Given the description of an element on the screen output the (x, y) to click on. 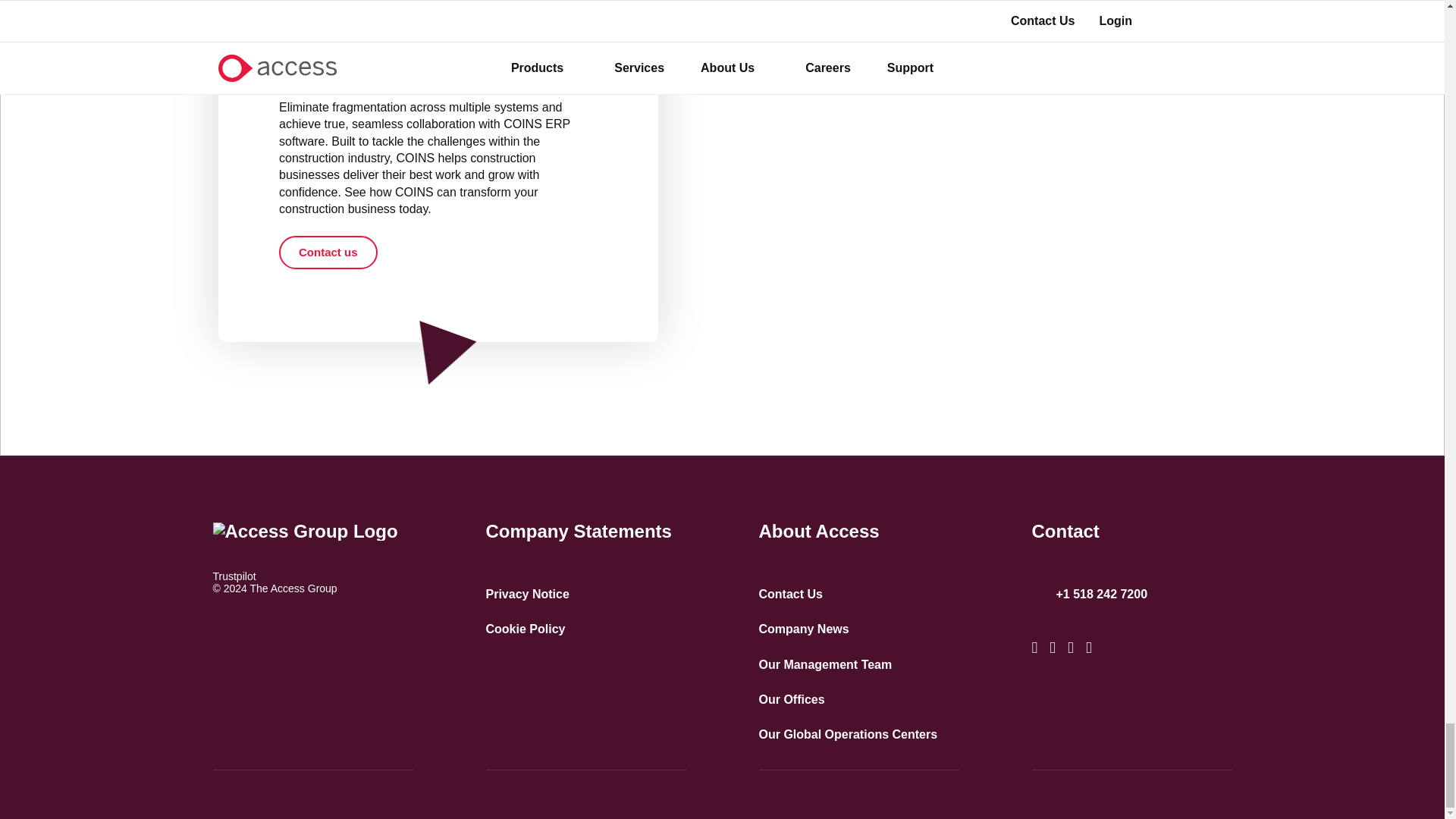
Twitter (1033, 647)
YouTube (1089, 647)
Linkedin (1052, 647)
facebook (1070, 647)
